Given the description of an element on the screen output the (x, y) to click on. 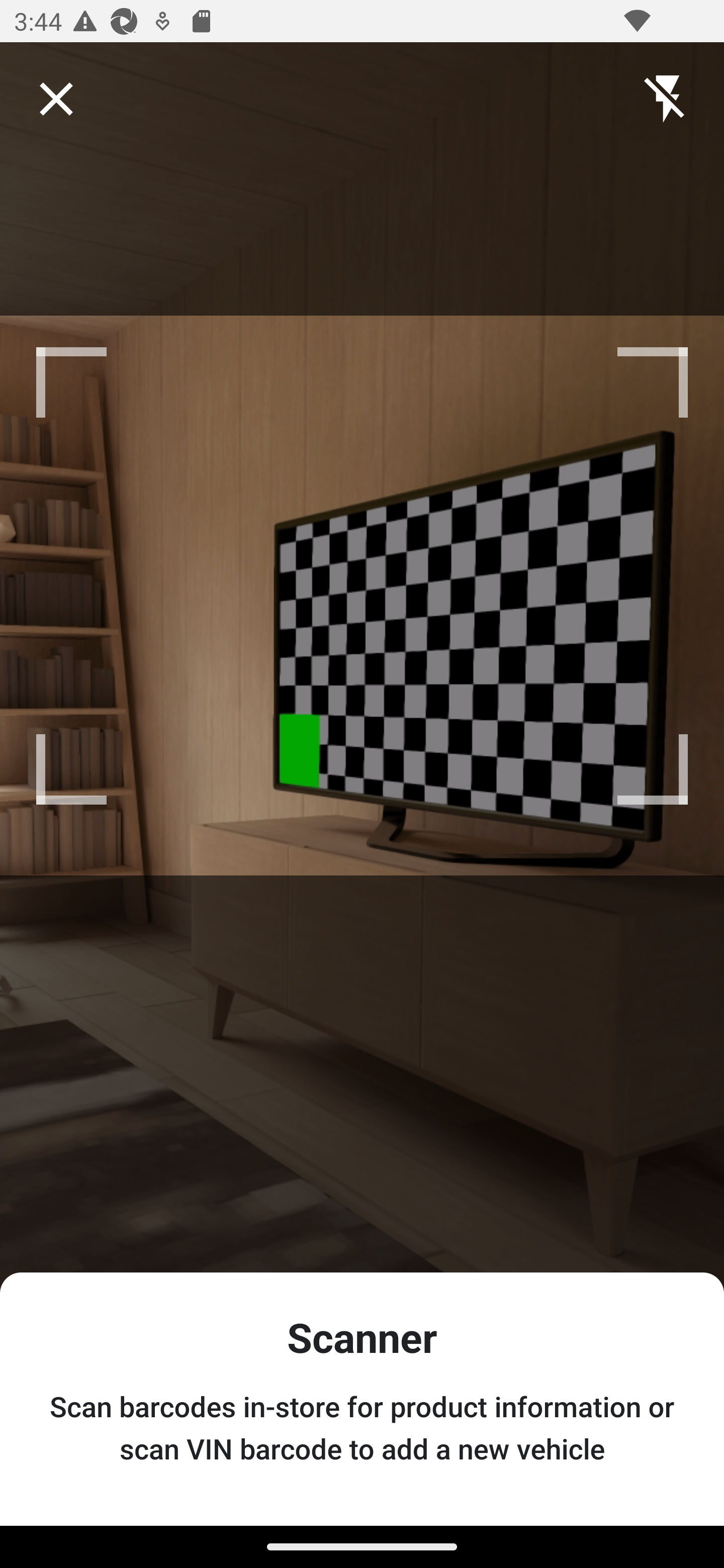
 (56, 98)
Flash  (667, 98)
